Given the description of an element on the screen output the (x, y) to click on. 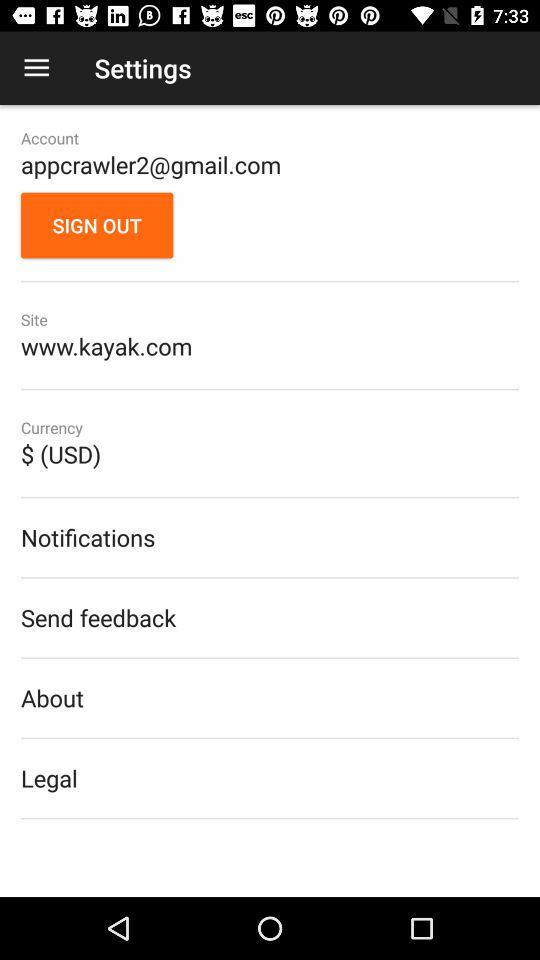
open the item to the left of settings (36, 68)
